Given the description of an element on the screen output the (x, y) to click on. 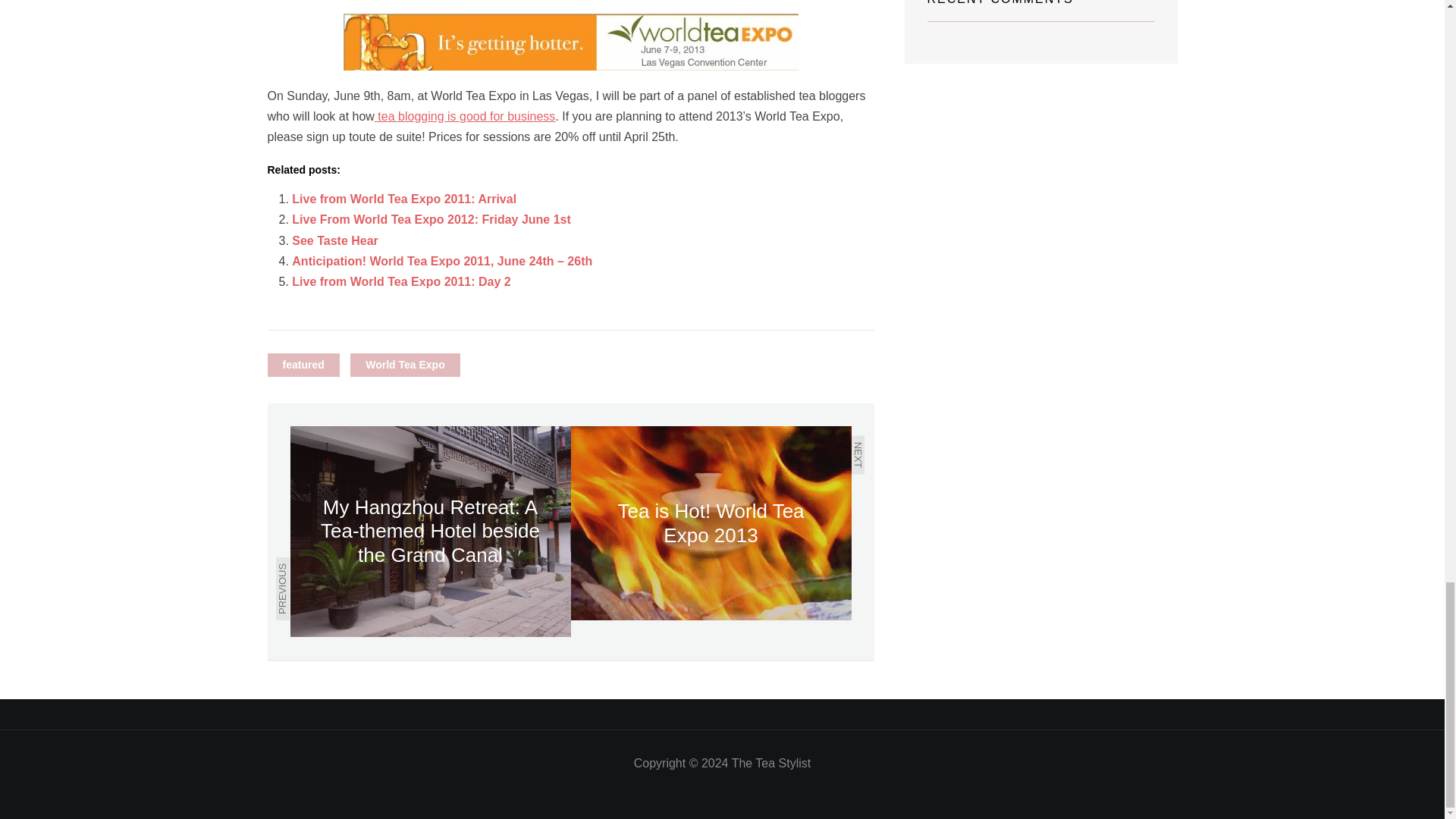
Live from World Tea Expo 2011: Day 2 (401, 281)
Live from World Tea Expo 2011: Arrival (404, 198)
See Taste  Hear (335, 240)
Live From World Tea Expo 2012: Friday June 1st (431, 219)
Tea is Hot! World Tea Expo 2013 (710, 522)
WTE-logo (569, 41)
